Given the description of an element on the screen output the (x, y) to click on. 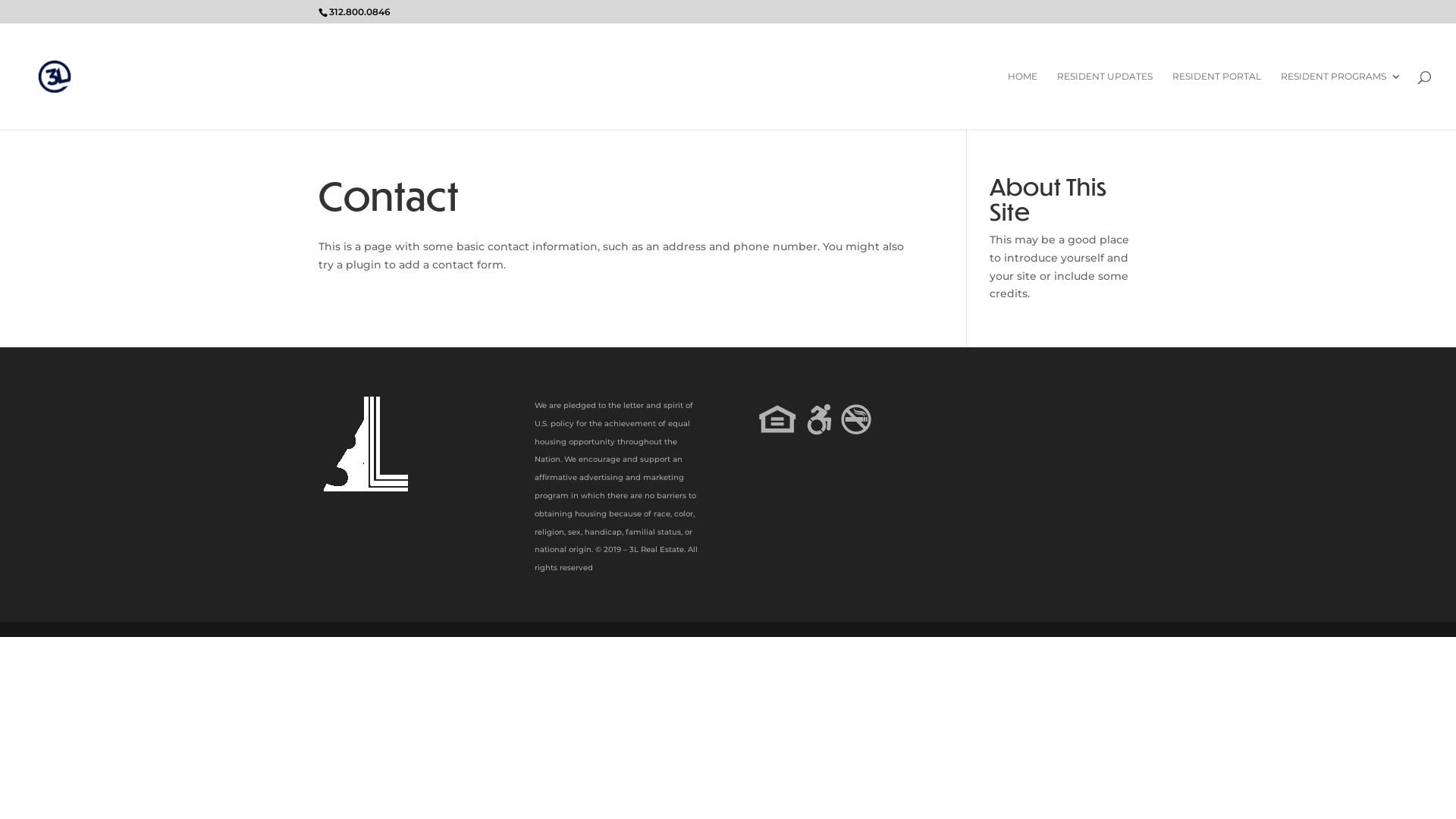
HOME Element type: text (1022, 100)
RESIDENT PORTAL Element type: text (1216, 100)
RESIDENT UPDATES Element type: text (1104, 100)
RESIDENT PROGRAMS Element type: text (1340, 100)
